Given the description of an element on the screen output the (x, y) to click on. 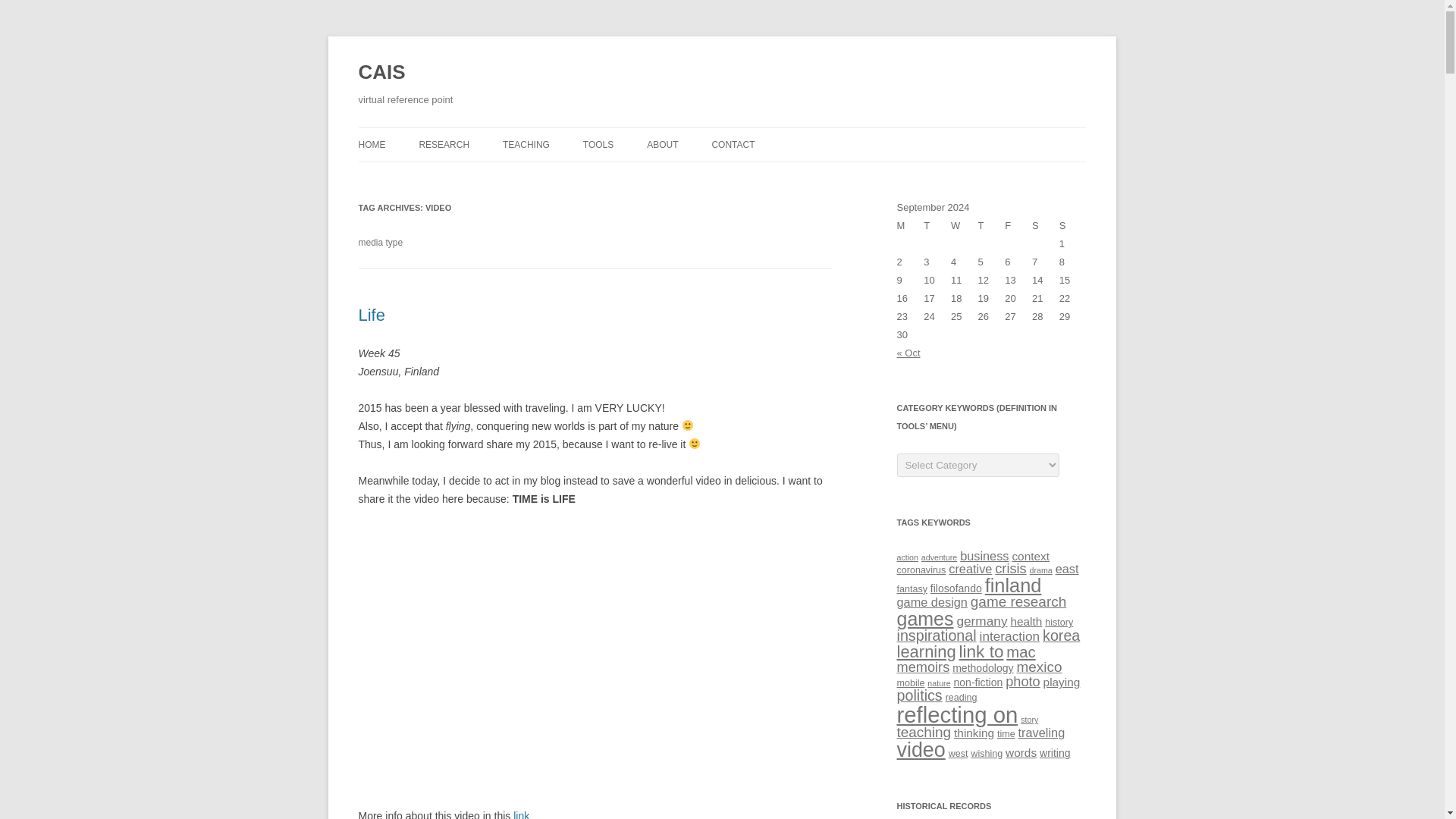
CAIS (381, 72)
Life (371, 314)
TEACHING (526, 144)
HCG (494, 176)
FACTS (721, 176)
TOOLS (597, 144)
CAIS (381, 72)
RESEARCH (443, 144)
